Given the description of an element on the screen output the (x, y) to click on. 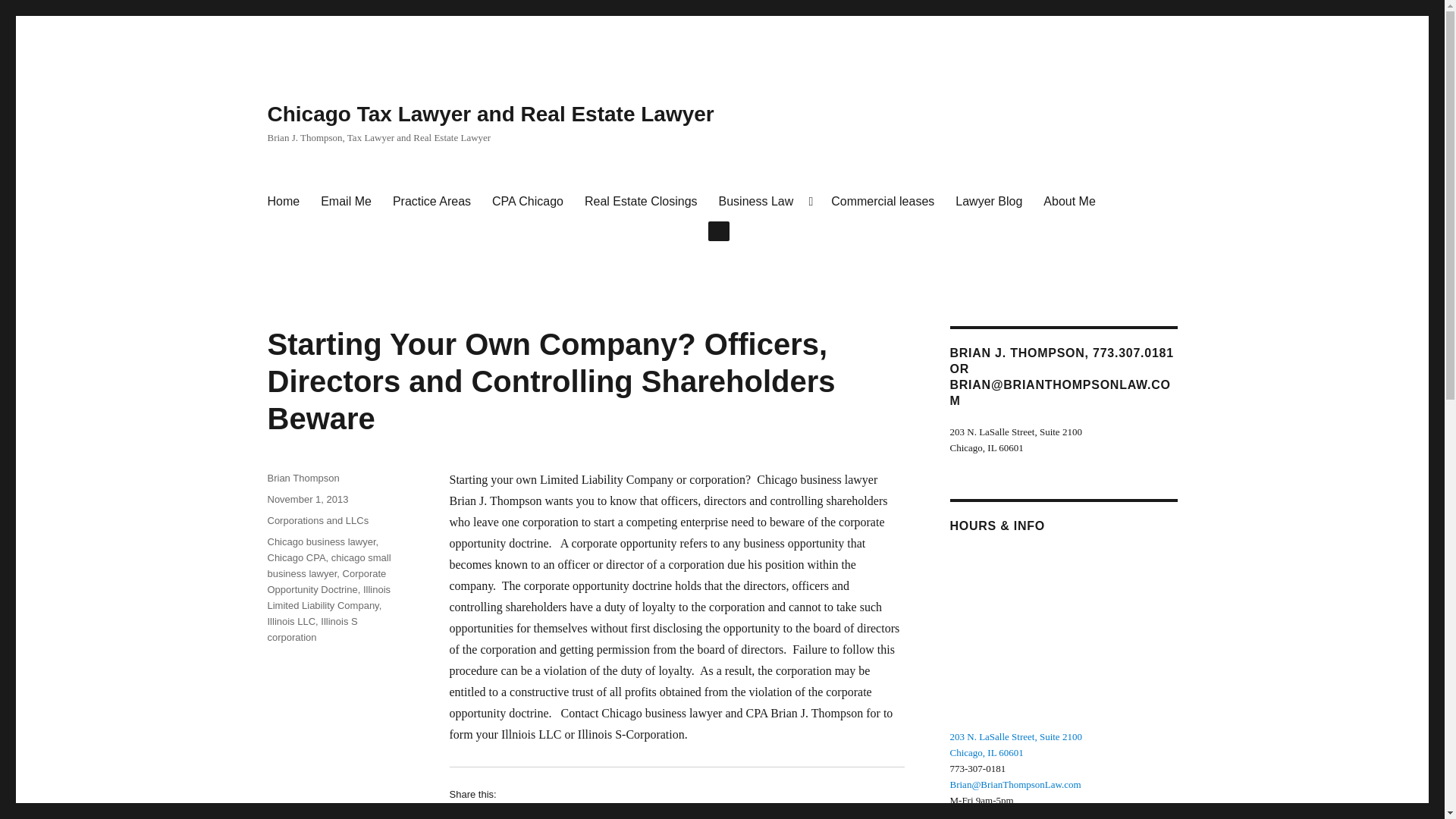
Practice Areas (431, 201)
Click to email a link to a friend (615, 814)
Commercial leases (882, 201)
Illinois S corporation (311, 628)
About Me (1068, 201)
EXPAND CHILD MENU (718, 230)
Click to share on LinkedIn (553, 814)
LinkedIn (553, 814)
Email Me (345, 201)
Illinois Limited Liability Company (328, 596)
